Given the description of an element on the screen output the (x, y) to click on. 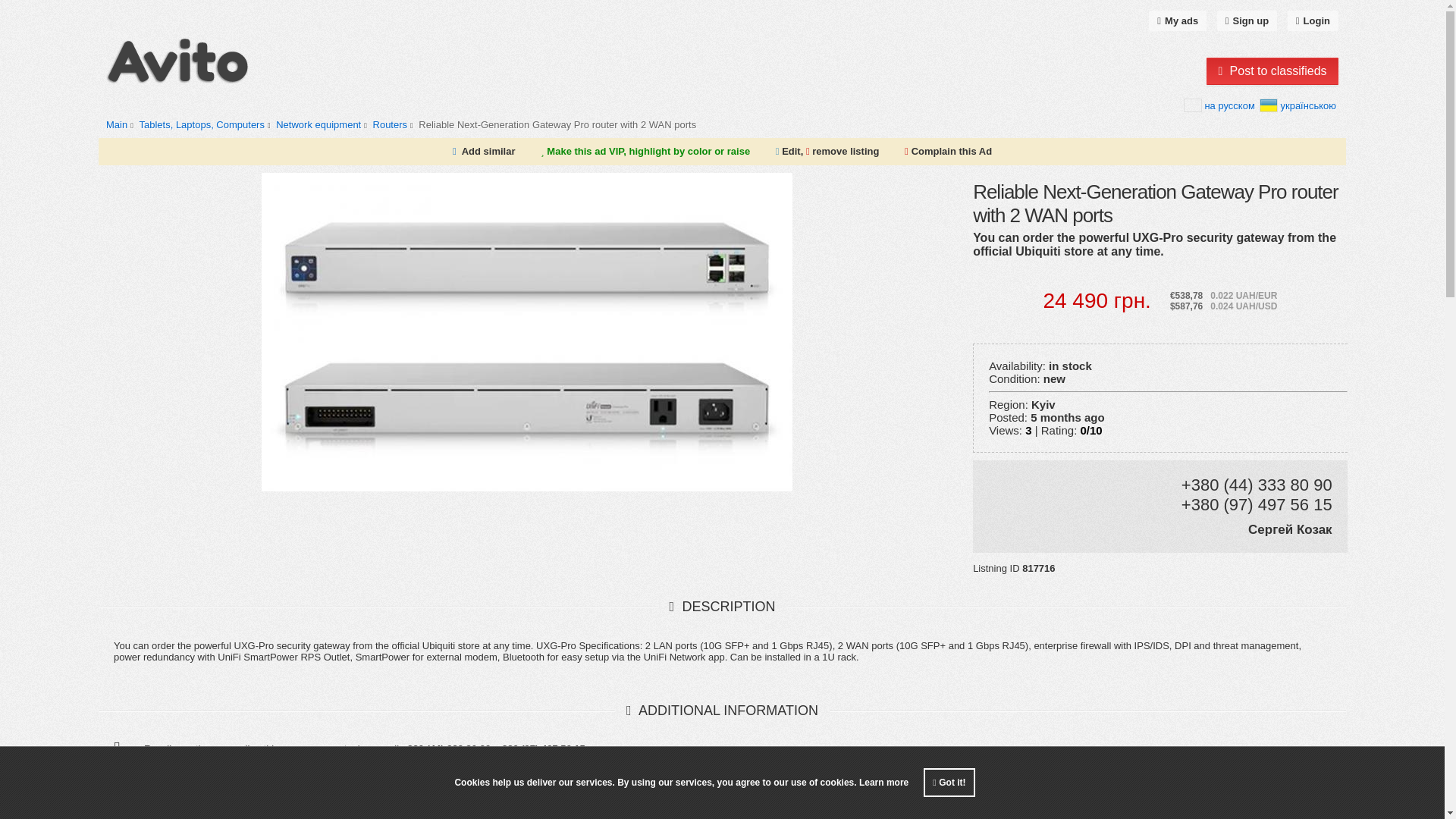
Tablets, Laptops, Computers (200, 124)
337 (322, 124)
Add similar (488, 151)
Complain this Ad (947, 151)
Sign up (1246, 20)
129 (394, 124)
Make this ad VIP, highlight by color or raise (644, 151)
Network equipment (318, 124)
My ads (1177, 20)
Post to classifieds (1272, 71)
